Given the description of an element on the screen output the (x, y) to click on. 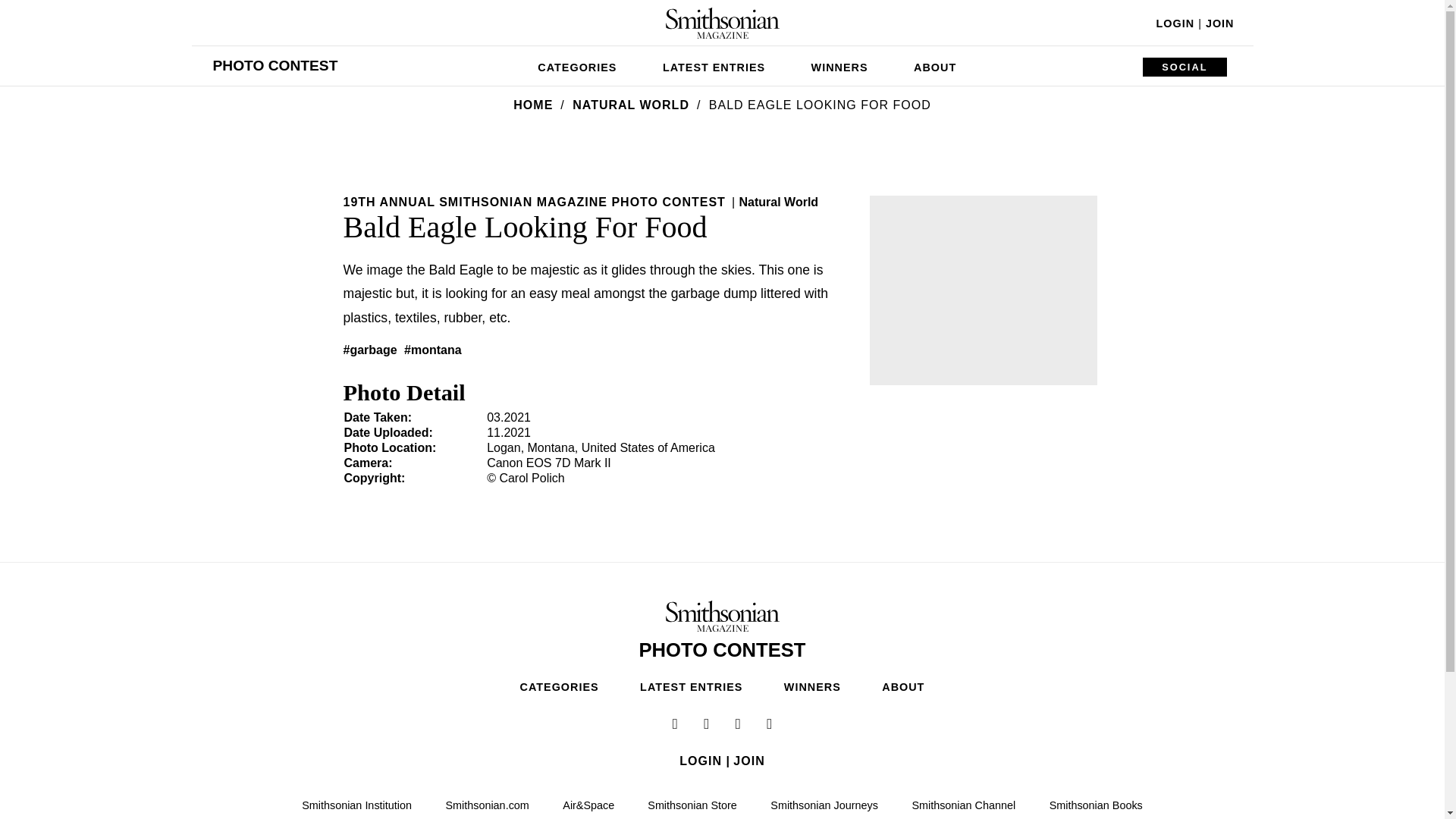
LATEST ENTRIES (713, 65)
WINNERS (839, 65)
PHOTO CONTEST (274, 65)
ABOUT (934, 65)
JOIN (1219, 23)
CATEGORIES (577, 65)
SOCIAL (1183, 66)
